Given the description of an element on the screen output the (x, y) to click on. 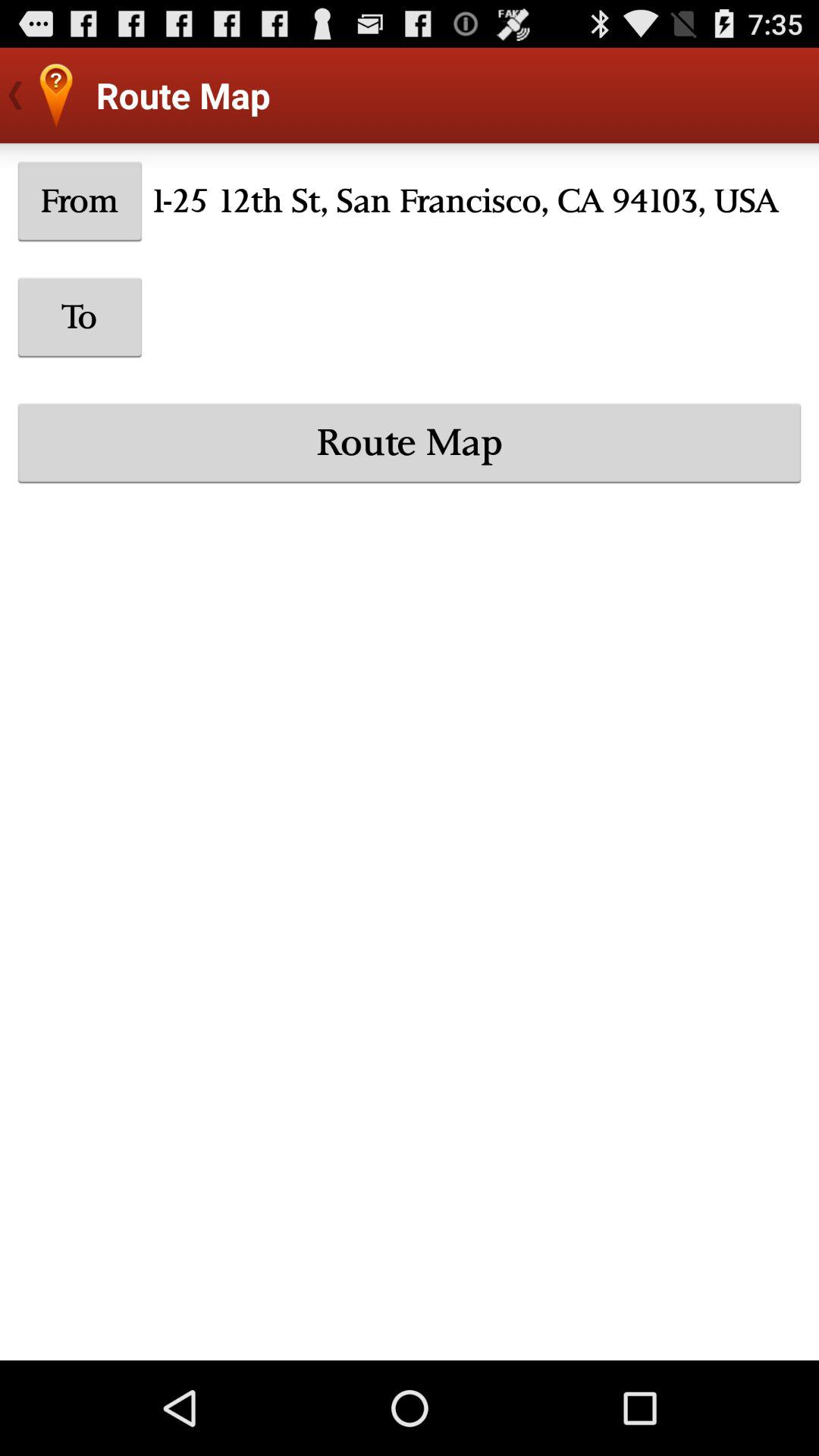
click the icon above the to (79, 201)
